Given the description of an element on the screen output the (x, y) to click on. 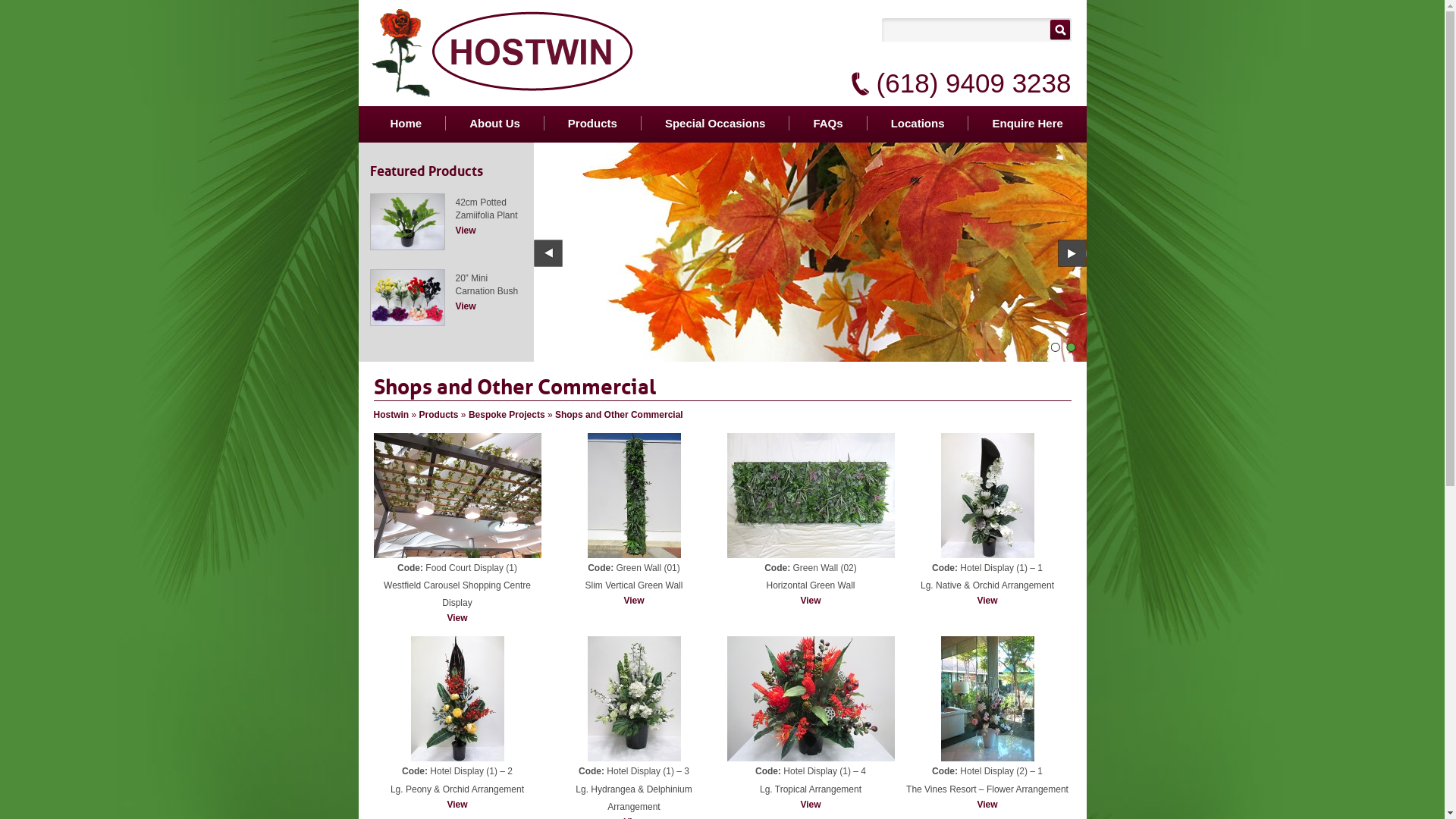
42cm Potted Zamiifolia Plant Element type: hover (407, 191)
Products Element type: text (438, 414)
Lg. Native & Orchid Arrangement Element type: text (987, 585)
View Element type: text (633, 600)
View Element type: text (456, 804)
Horizontal Green Wall Element type: hover (810, 495)
Lg. Peony & Orchid Arrangement Element type: hover (457, 698)
Enquire Here Element type: text (1026, 123)
Hostwin Element type: text (390, 414)
Products Element type: text (592, 123)
Shops and Other Commercial Element type: text (619, 414)
View Element type: text (810, 804)
Lg. Tropical Arrangement Element type: text (810, 789)
Slim Vertical Green Wall Element type: text (634, 585)
About Us Element type: text (494, 123)
Home Element type: text (406, 123)
Lg. Hydrangea & Delphinium Arrangement Element type: hover (633, 698)
Lg. Peony & Orchid Arrangement Element type: text (457, 789)
Search Element type: text (1059, 29)
Search Element type: hover (964, 29)
2 Element type: text (1071, 348)
Slim Vertical Green Wall Element type: hover (633, 495)
View Element type: text (465, 306)
View Element type: text (456, 617)
Lg. Native & Orchid Arrangement Element type: hover (986, 495)
1 Element type: text (1056, 348)
Westfield Carousel Shopping Centre Display Element type: hover (456, 495)
Autumn-banner Element type: hover (809, 251)
View Element type: text (810, 600)
Special Occasions Element type: text (715, 123)
FAQs Element type: text (827, 123)
Westfield Carousel Shopping Centre Display Element type: text (456, 594)
View Element type: text (986, 600)
View Element type: text (986, 804)
Lg. Hydrangea & Delphinium Arrangement Element type: text (633, 798)
Bespoke Projects Element type: text (506, 414)
Locations Element type: text (917, 123)
Horizontal Green Wall Element type: text (810, 585)
View Element type: text (465, 230)
Lg. Tropical Arrangement Element type: hover (810, 698)
Hostwin Element type: hover (503, 91)
